Given the description of an element on the screen output the (x, y) to click on. 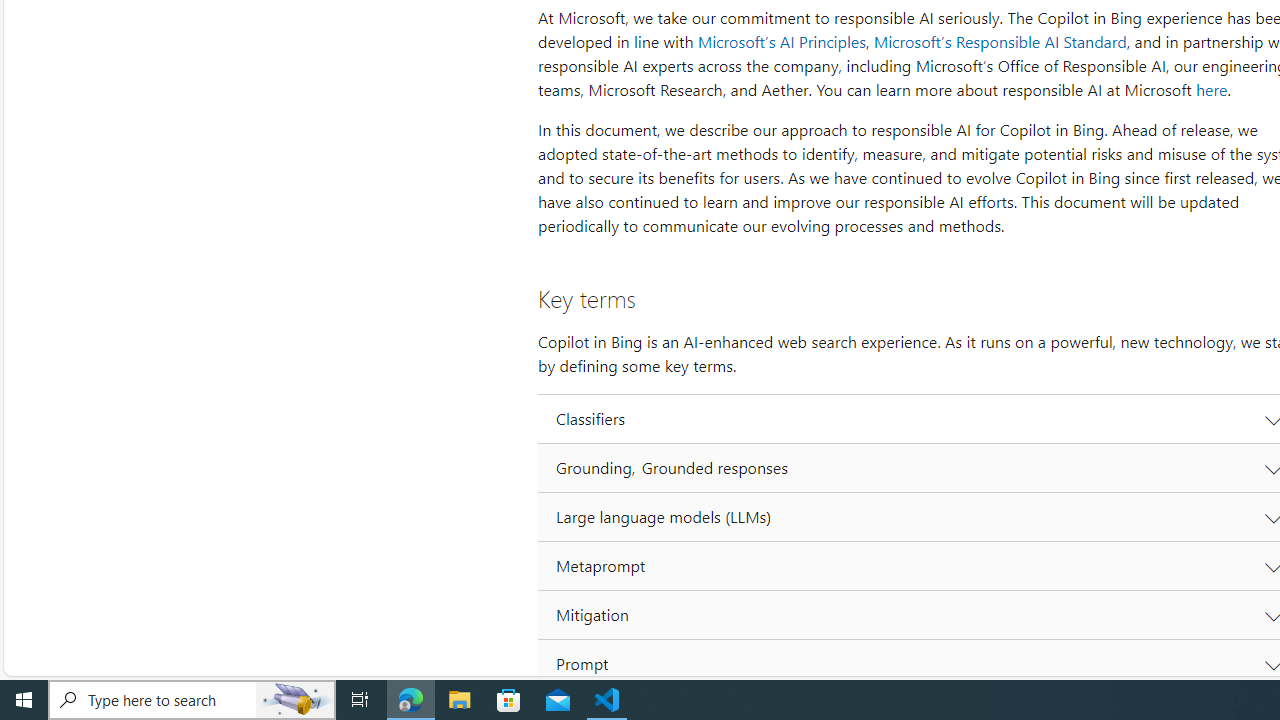
here (1211, 89)
